Given the description of an element on the screen output the (x, y) to click on. 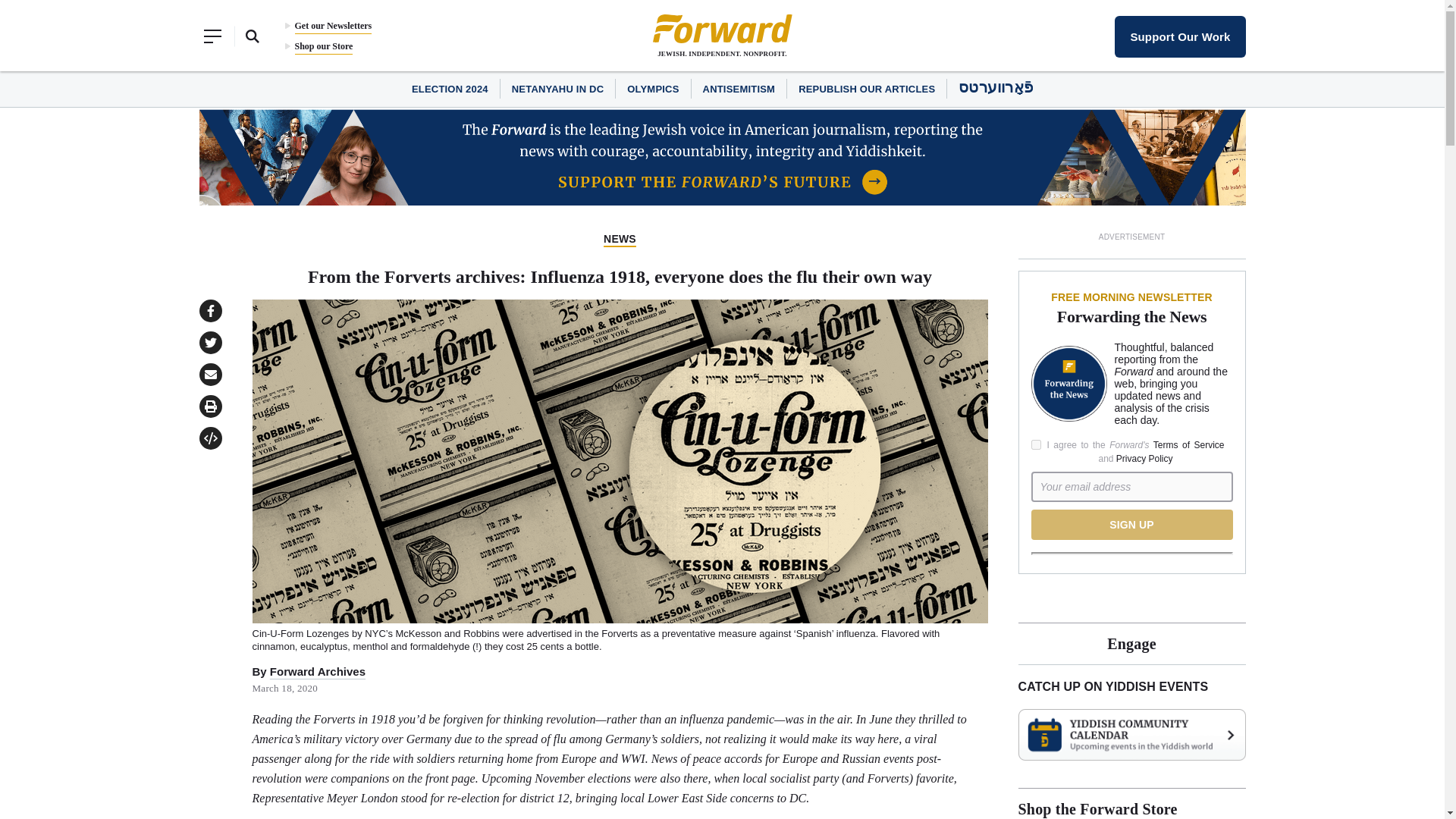
ELECTION 2024 (449, 89)
OLYMPICS (652, 89)
Sign Up (1131, 524)
Shop our Store (323, 46)
Yes (1035, 444)
Support Our Work (1179, 35)
Get our Newsletters (332, 26)
Click to open publish popup (209, 437)
NETANYAHU IN DC (558, 89)
